Given the description of an element on the screen output the (x, y) to click on. 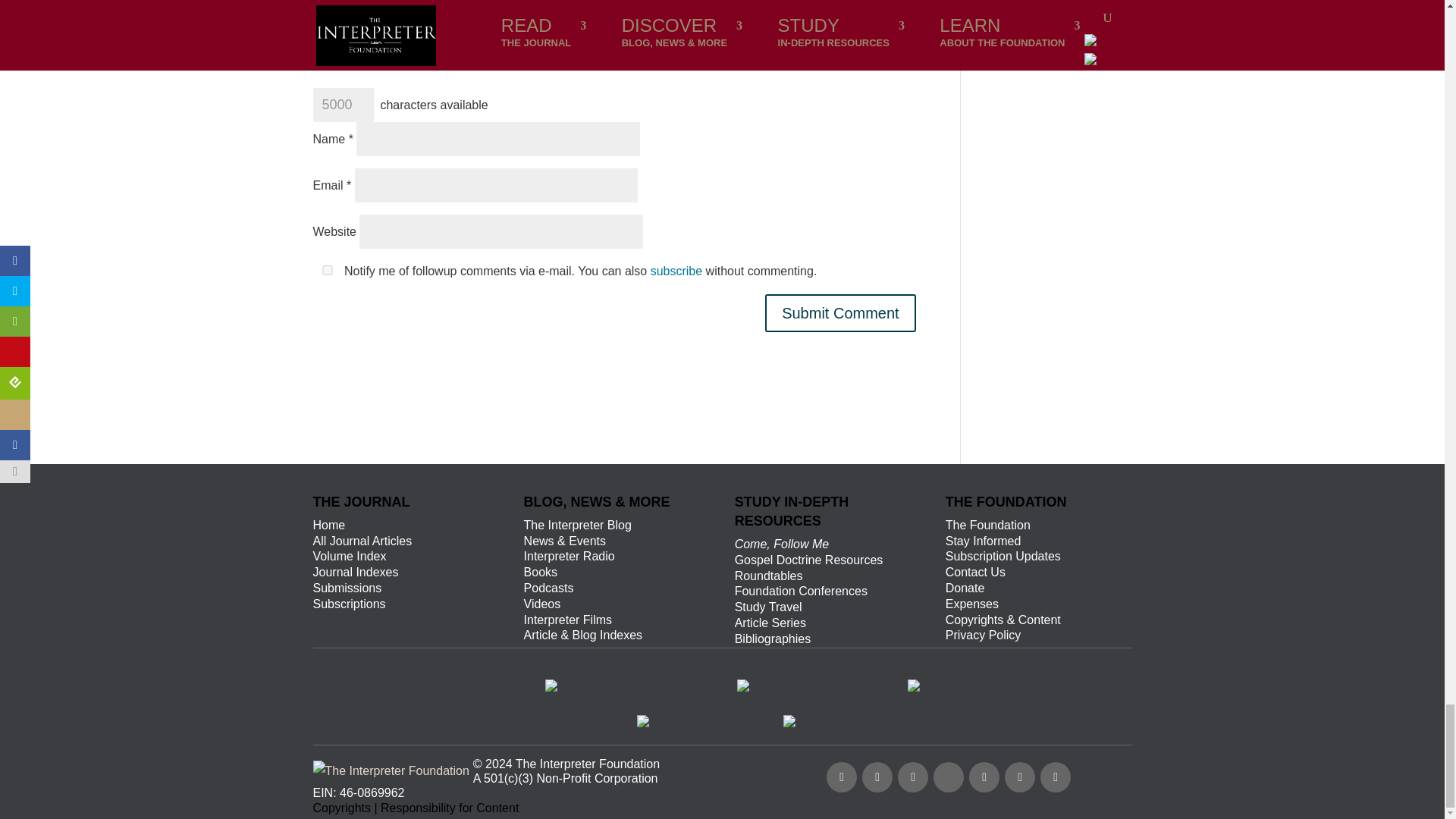
5000 (342, 104)
Follow us on TikTok (948, 777)
Follow us on Facebook (842, 777)
yes (326, 270)
Subscribe to our RSS feeds (1019, 777)
Subscribe to our mailing list (1055, 777)
Subscribe to our mailing list or RSS feeds (953, 775)
Follow us on YouTube (913, 777)
Submit Comment (840, 313)
Follow us on Twitter (876, 777)
Follow us on Instagram (983, 777)
